Given the description of an element on the screen output the (x, y) to click on. 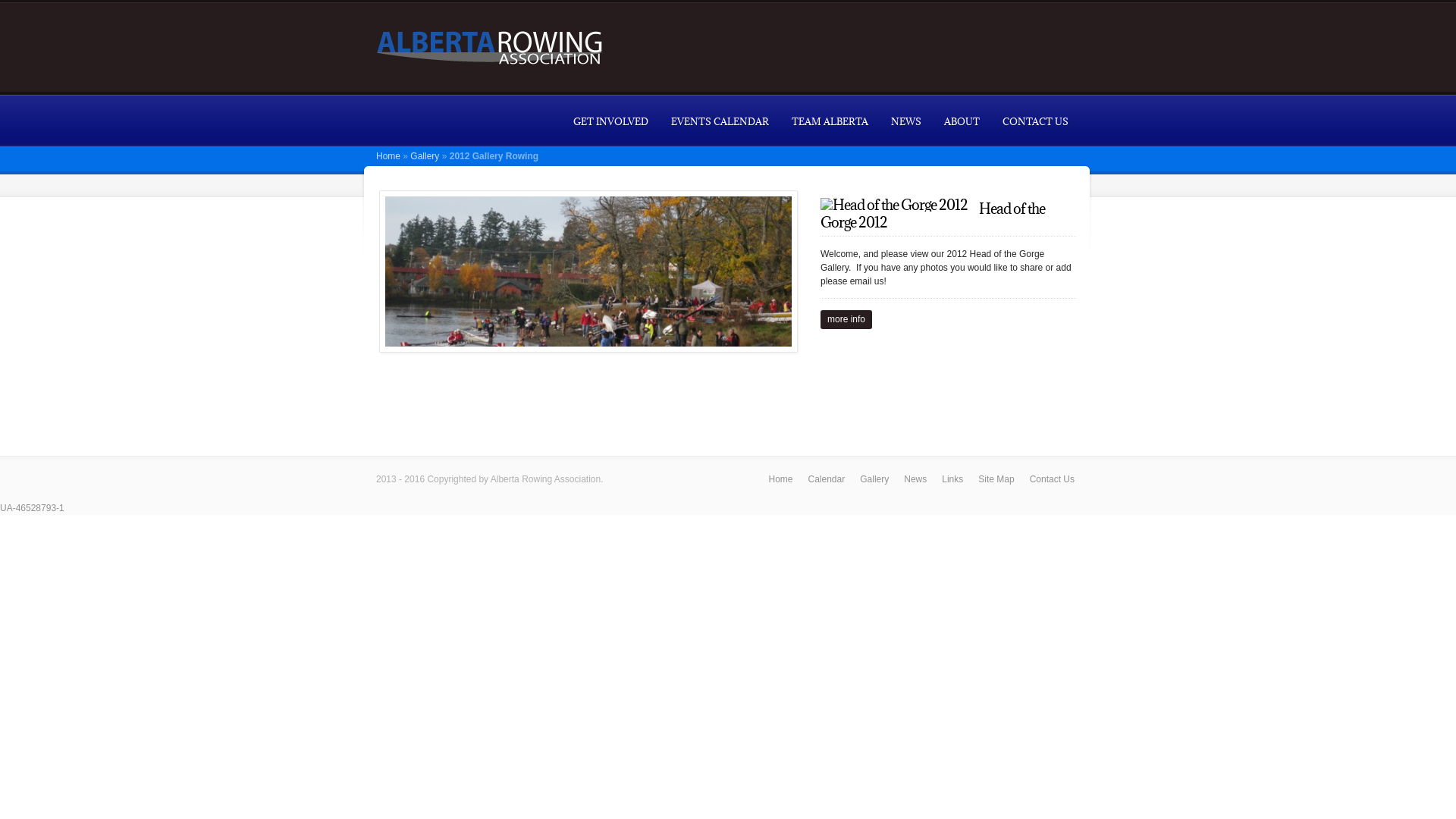
TEAM ALBERTA Element type: text (829, 120)
News Element type: text (914, 478)
Calendar Element type: text (826, 478)
more info Element type: text (846, 319)
NEWS Element type: text (905, 120)
ABOUT Element type: text (961, 120)
Links Element type: text (952, 478)
GET INVOLVED Element type: text (610, 120)
Gallery Element type: text (874, 478)
Home Element type: text (779, 478)
EVENTS CALENDAR Element type: text (719, 120)
Site Map Element type: text (995, 478)
Gallery Element type: text (424, 155)
Head of the Gorge 2012 Element type: text (932, 215)
Home Element type: text (388, 155)
Head of the Gorge 2012 Element type: hover (588, 271)
Contact Us Element type: text (1051, 478)
CONTACT US Element type: text (1035, 120)
